Given the description of an element on the screen output the (x, y) to click on. 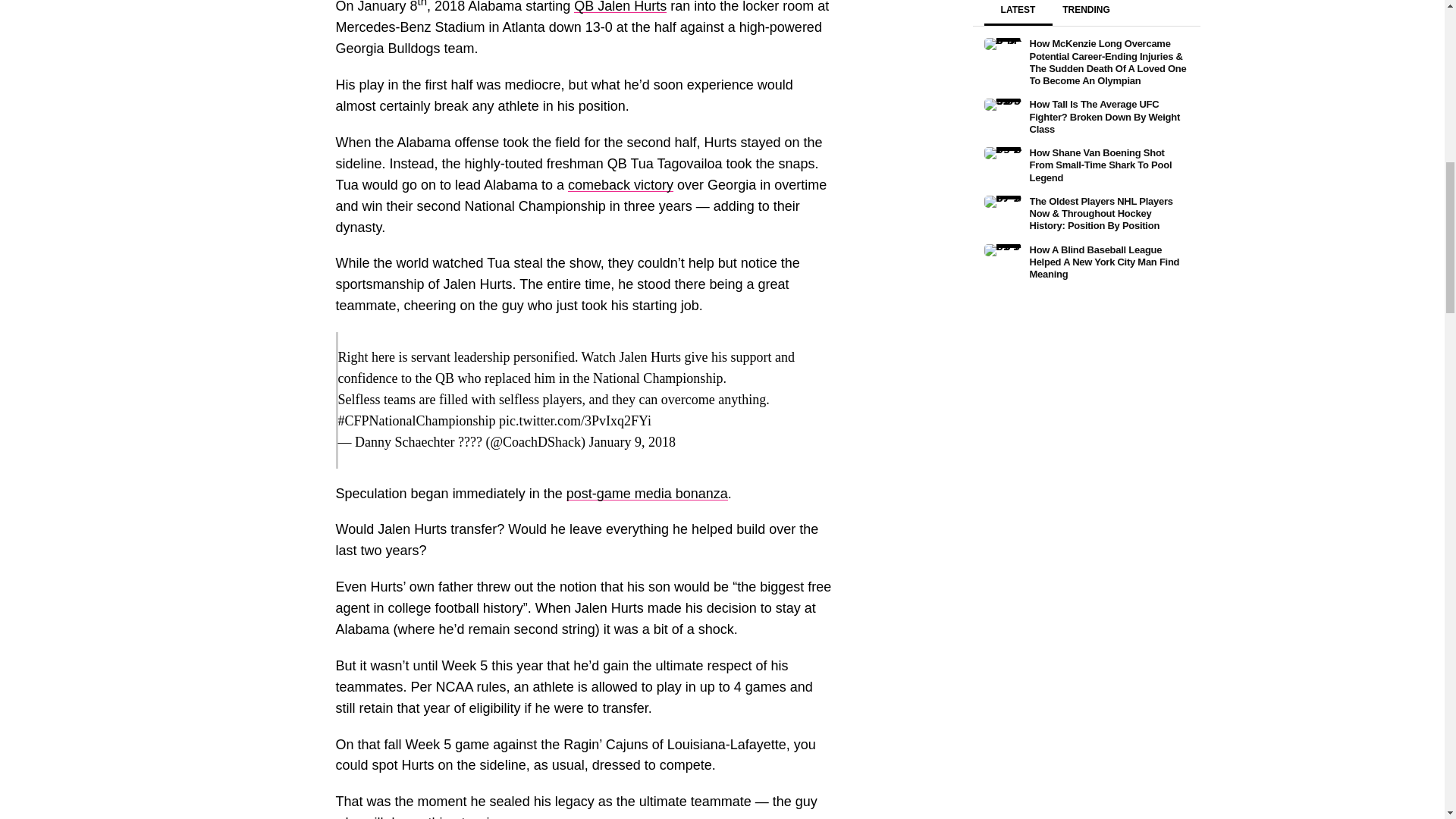
post-game media bonanza (647, 493)
QB Jalen Hurts (619, 6)
January 9, 2018 (631, 441)
comeback victory (619, 184)
